Given the description of an element on the screen output the (x, y) to click on. 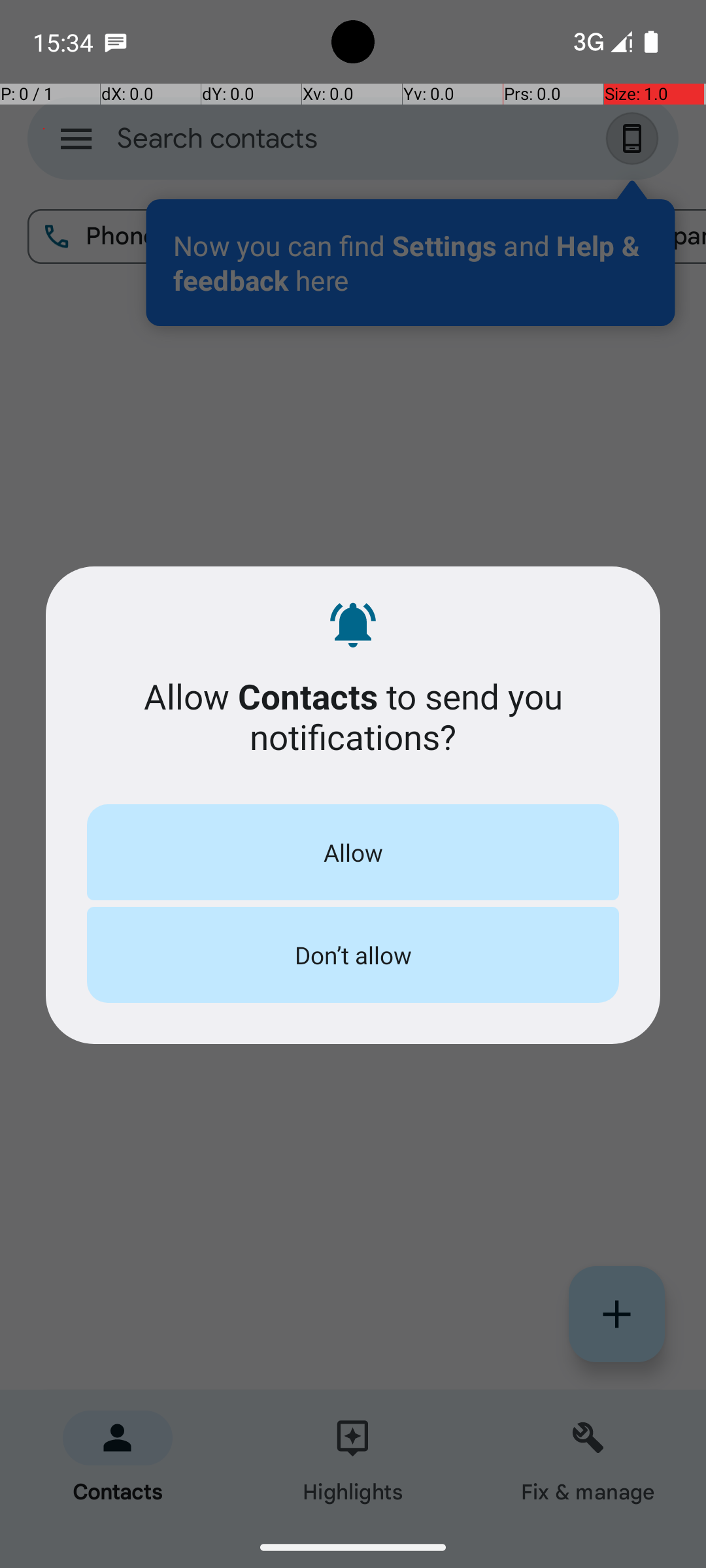
Allow Contacts to send you notifications? Element type: android.widget.TextView (352, 715)
Allow Element type: android.widget.Button (352, 852)
Don’t allow Element type: android.widget.Button (352, 954)
